Given the description of an element on the screen output the (x, y) to click on. 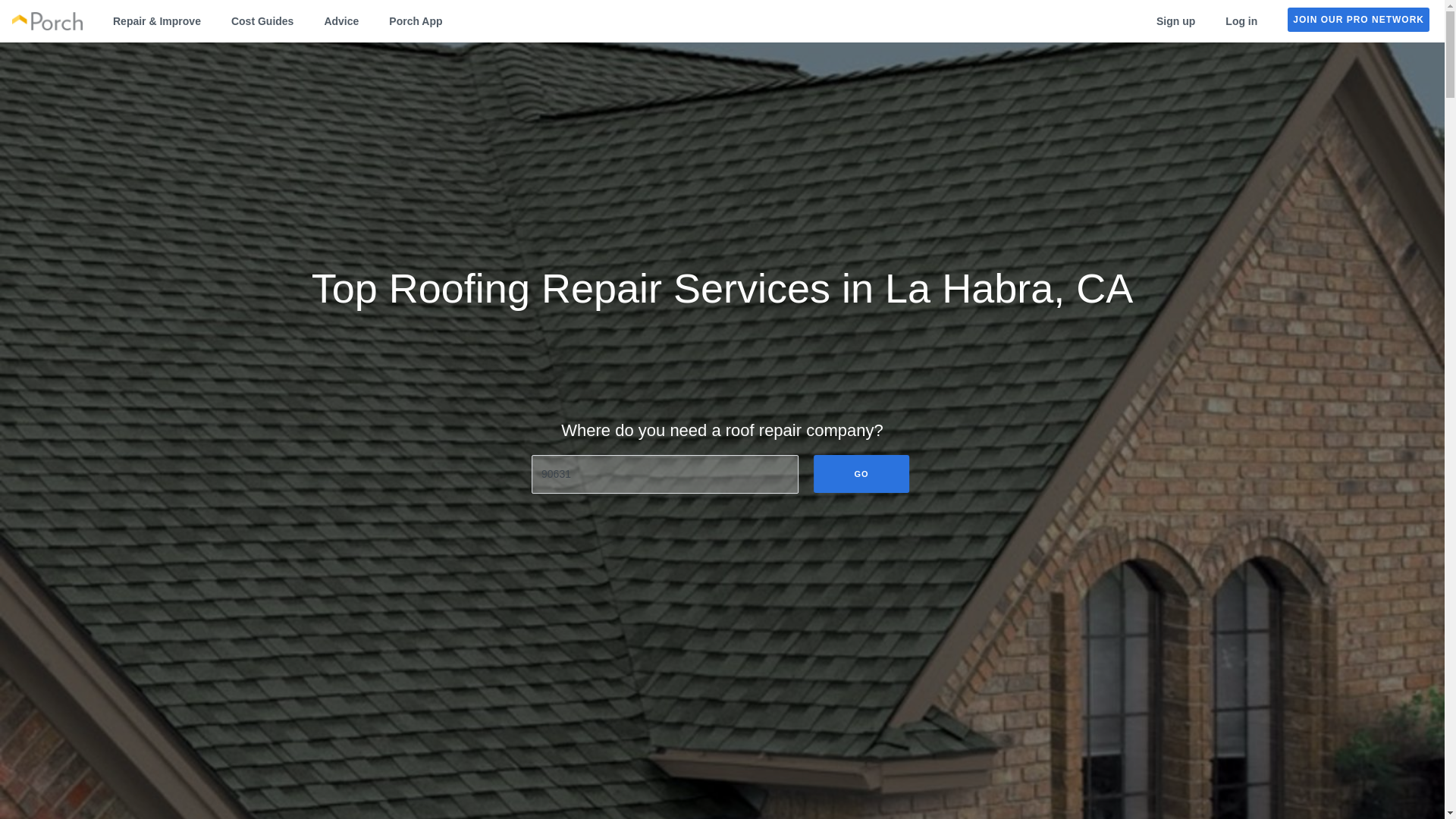
90631 (664, 474)
